Given the description of an element on the screen output the (x, y) to click on. 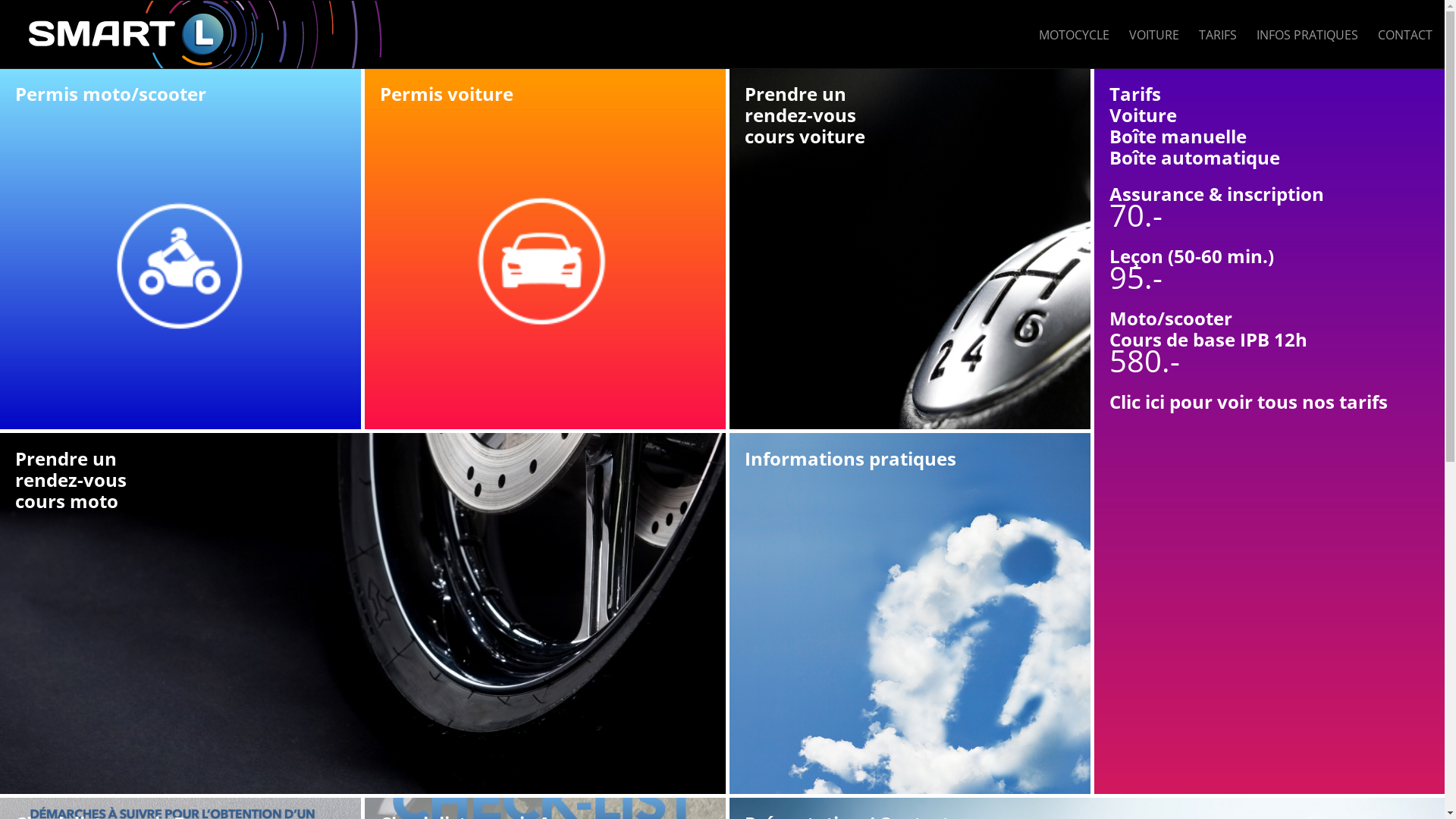
VOITURE Element type: text (1153, 34)
MOTOCYCLE Element type: text (1073, 34)
TARIFS Element type: text (1217, 34)
INFOS PRATIQUES Element type: text (1307, 34)
CONTACT Element type: text (1404, 34)
